Given the description of an element on the screen output the (x, y) to click on. 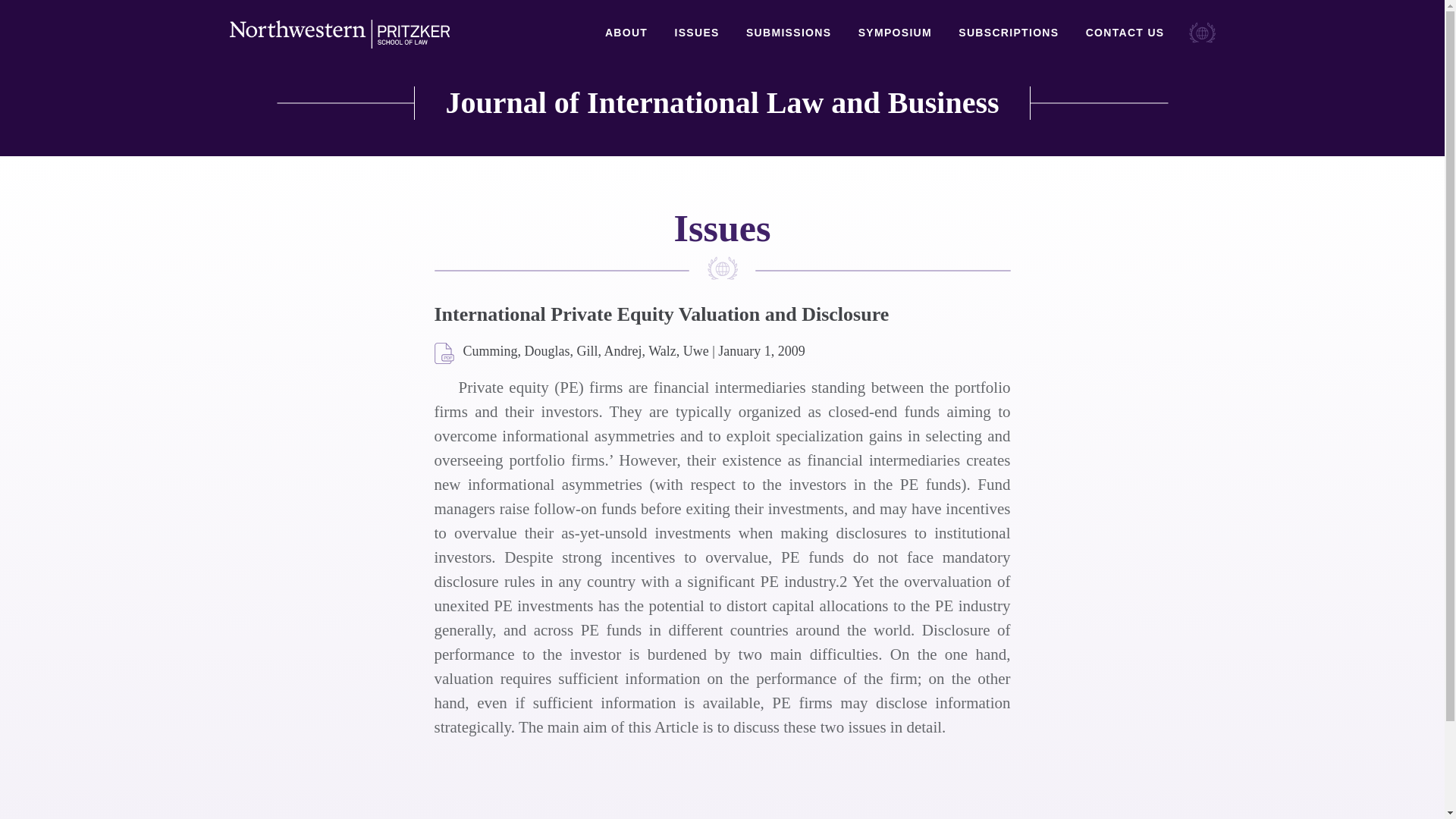
CONTACT US (1125, 32)
Northwestern Pritzker School of Law (338, 34)
ABOUT (626, 32)
Journal of International Law and Business (721, 102)
ISSUES (696, 32)
International Private Equity Valuation and Disclosure (443, 354)
Journal of International Law and Business (721, 102)
SUBMISSIONS (788, 32)
SUBSCRIPTIONS (1008, 32)
SYMPOSIUM (895, 32)
